Given the description of an element on the screen output the (x, y) to click on. 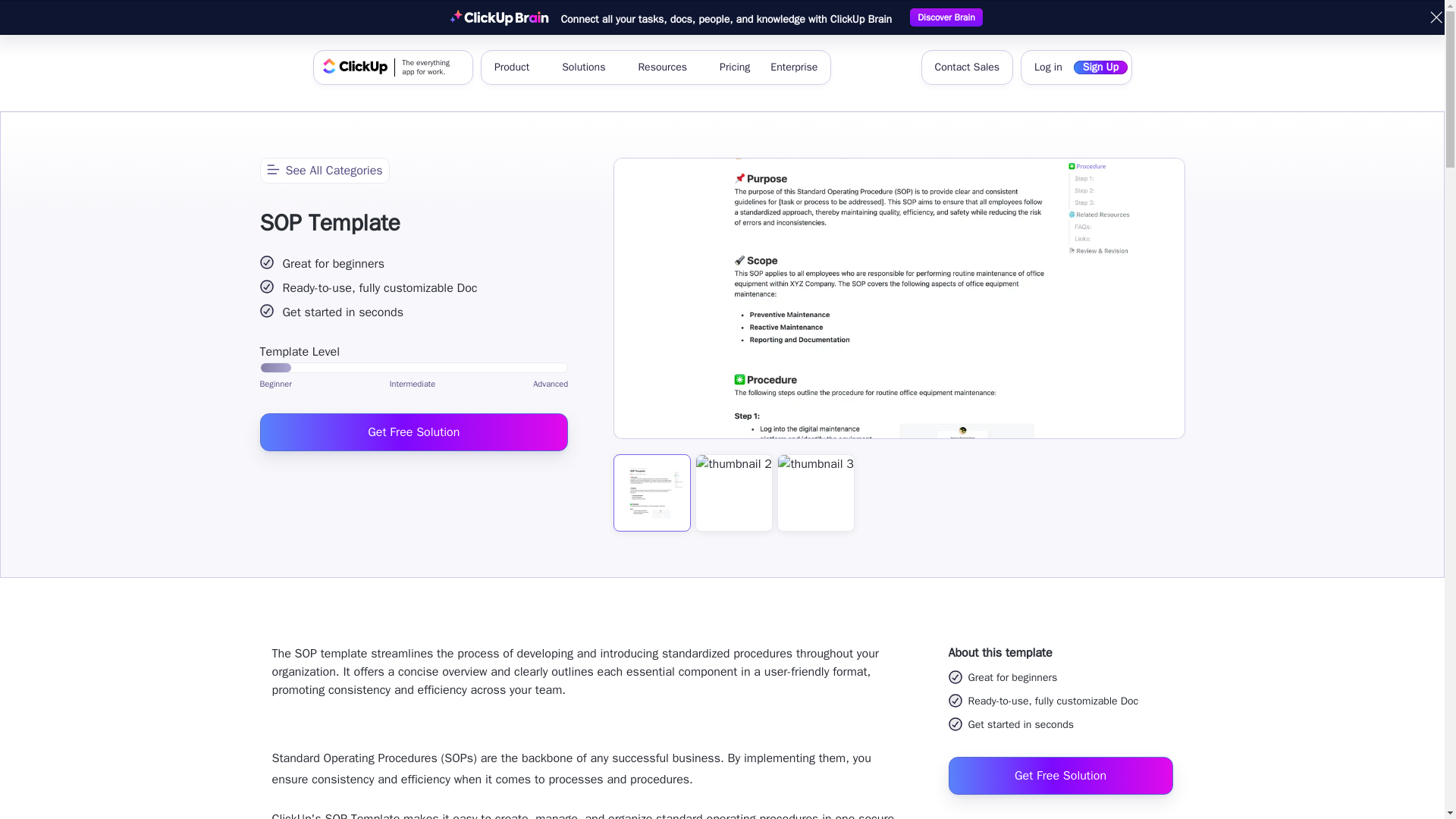
Close banner (1435, 17)
Sign Up (1099, 67)
Get Free Solution (393, 67)
Solutions (413, 431)
Product (589, 67)
Log in (517, 67)
Enterprise (1048, 67)
See All Categories (794, 67)
Discover Brain (323, 170)
